Given the description of an element on the screen output the (x, y) to click on. 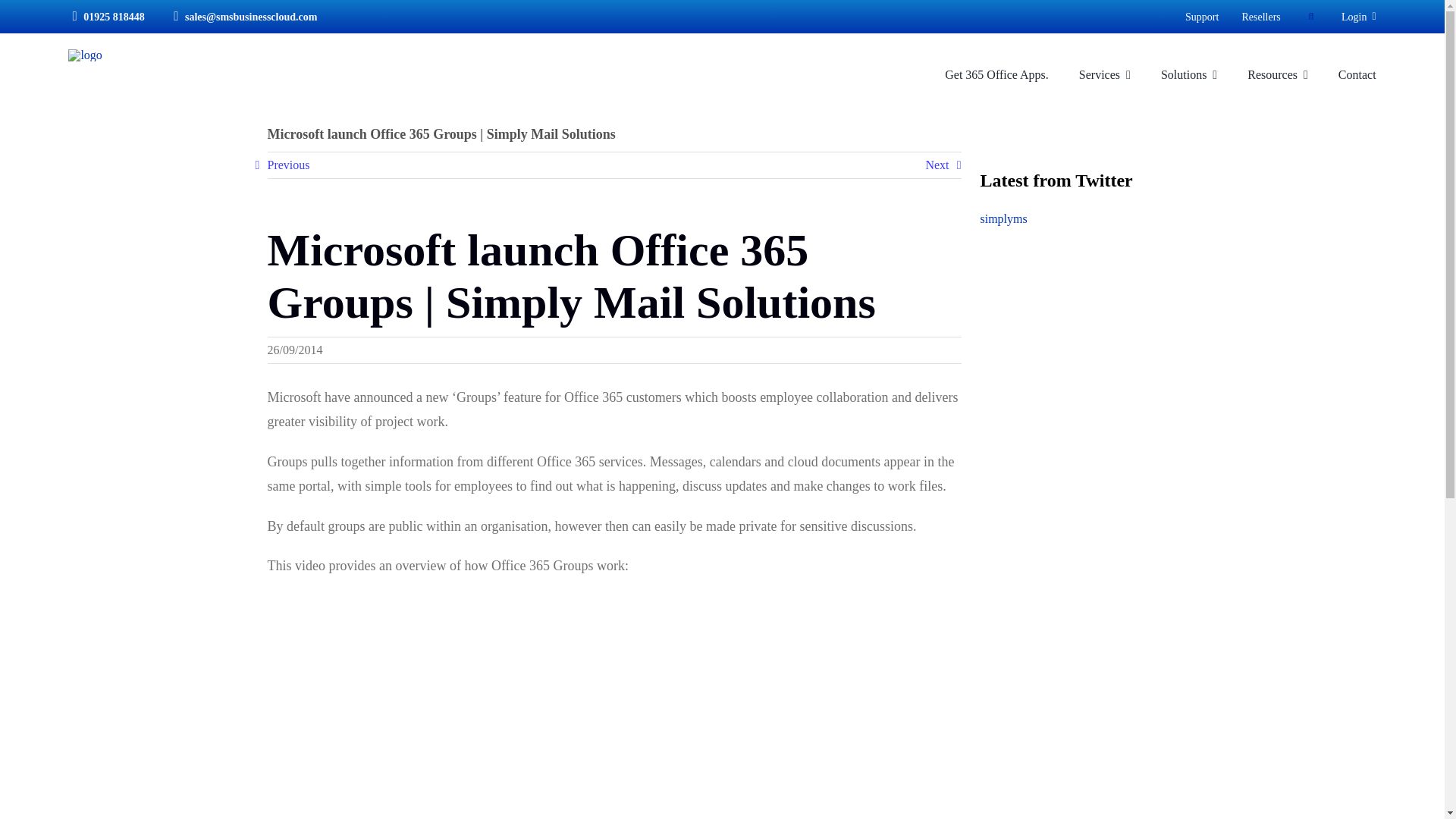
Login (1357, 15)
Support (1201, 15)
01925 818448 (104, 15)
Logo dark - SMS (84, 55)
Resellers (1260, 15)
